Given the description of an element on the screen output the (x, y) to click on. 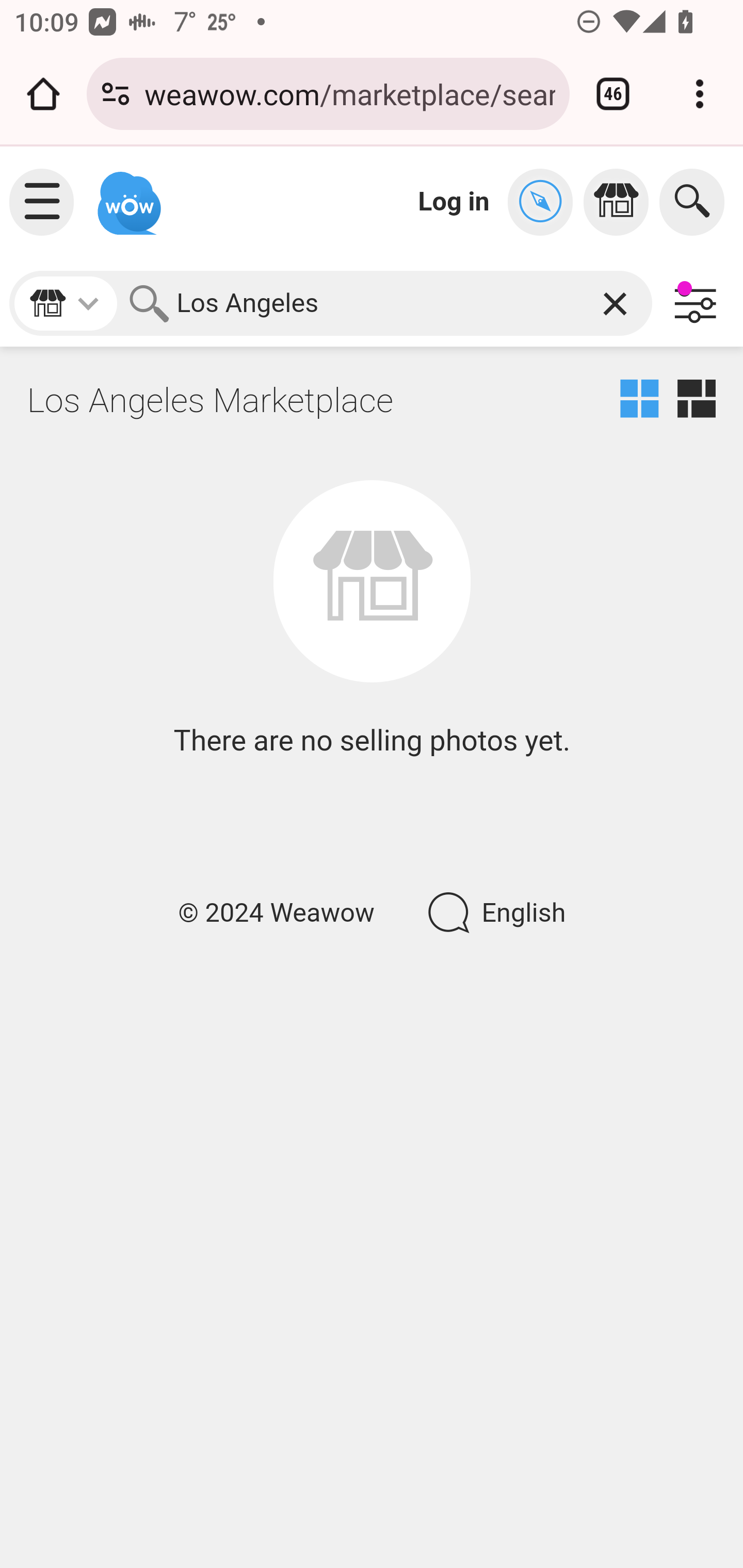
Open the home page (43, 93)
Connection is secure (115, 93)
Switch or close tabs (612, 93)
Customize and control Google Chrome (699, 93)
weawow.com/marketplace/search/Los%20Angeles (349, 92)
Weawow (127, 194)
 (545, 201)
 (621, 201)
Log in (453, 201)
Los Angeles (386, 303)
© 2024 Weawow (275, 913)
